Given the description of an element on the screen output the (x, y) to click on. 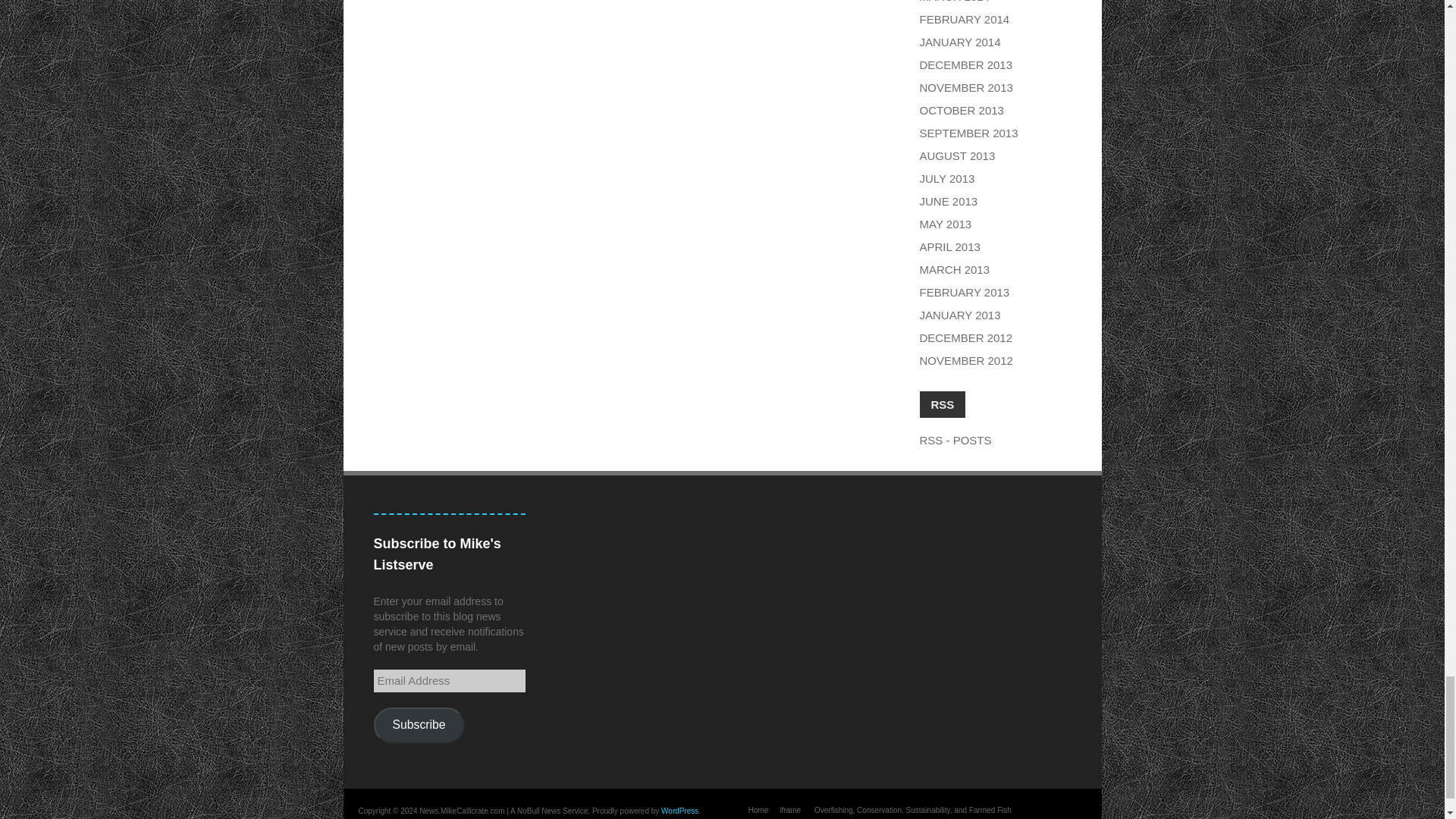
Subscribe to posts (954, 440)
Semantic Personal Publishing Platform (679, 810)
